Given the description of an element on the screen output the (x, y) to click on. 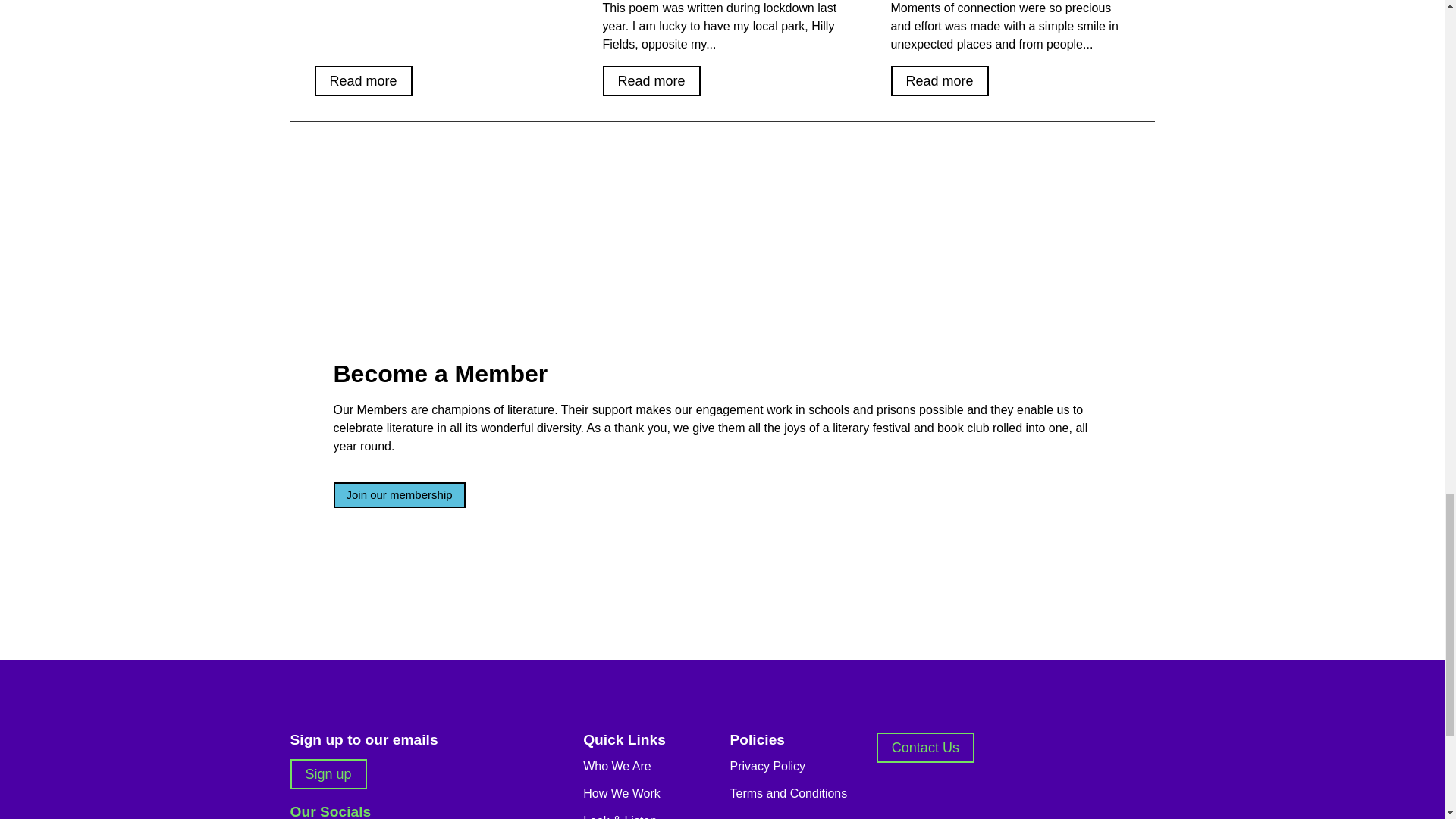
Read more (363, 81)
Read more (651, 81)
